Given the description of an element on the screen output the (x, y) to click on. 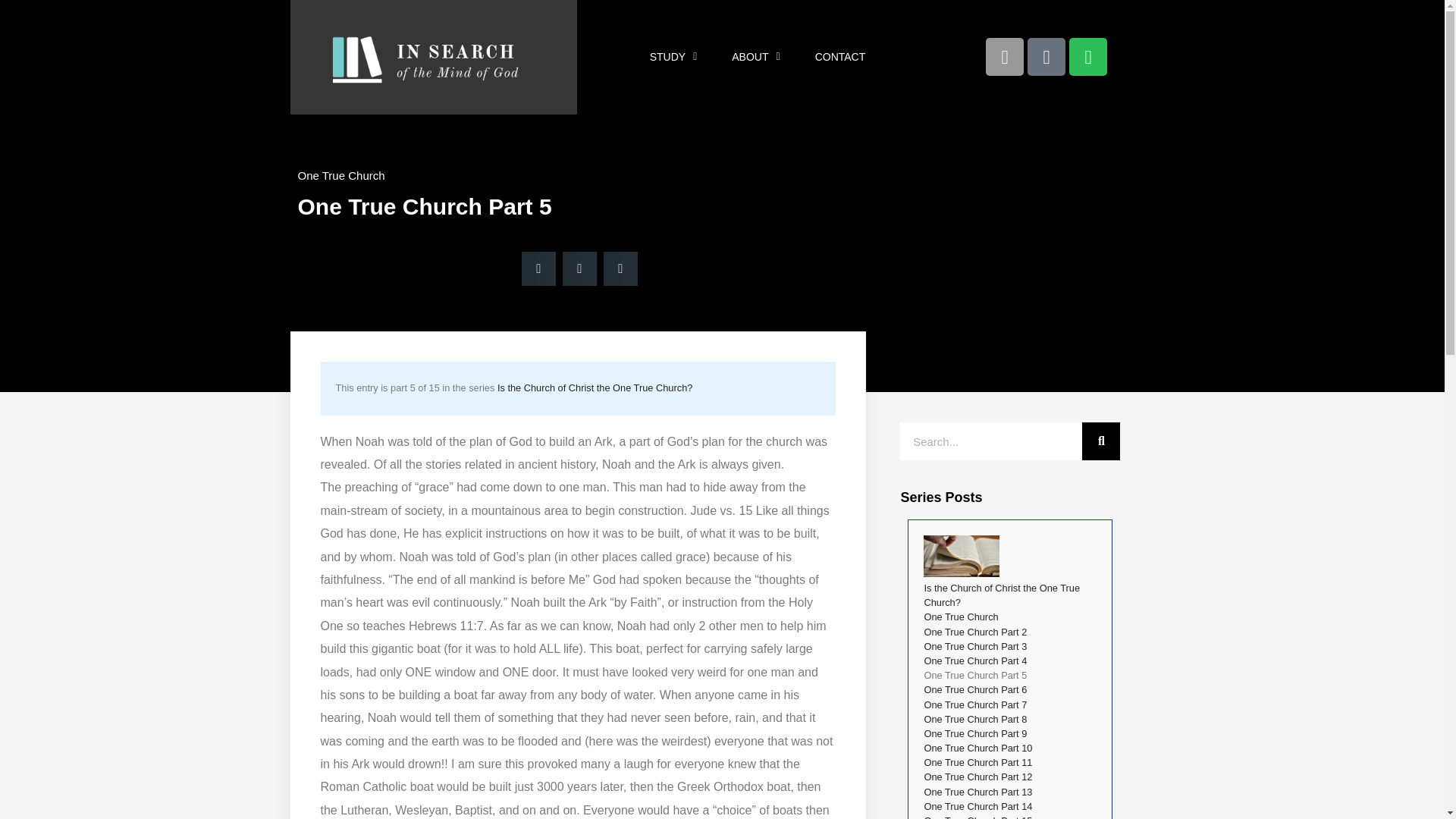
Is the Church of Christ the One True Church? (1001, 595)
One True Church Part 15 (977, 816)
One True Church (960, 616)
One True Church Part 6 (974, 689)
STUDY (673, 56)
One True Church Part 9 (974, 733)
One True Church Part 12 (977, 776)
One True Church Part 3 (974, 645)
One True Church Part 11 (977, 762)
One True Church Part 7 (974, 704)
One True Church Part 2 (974, 632)
Is the Church of Christ the One True Church? (595, 387)
One True Church Part 8 (974, 718)
One True Church Part 10 (977, 747)
One True Church Part 4 (974, 660)
